Given the description of an element on the screen output the (x, y) to click on. 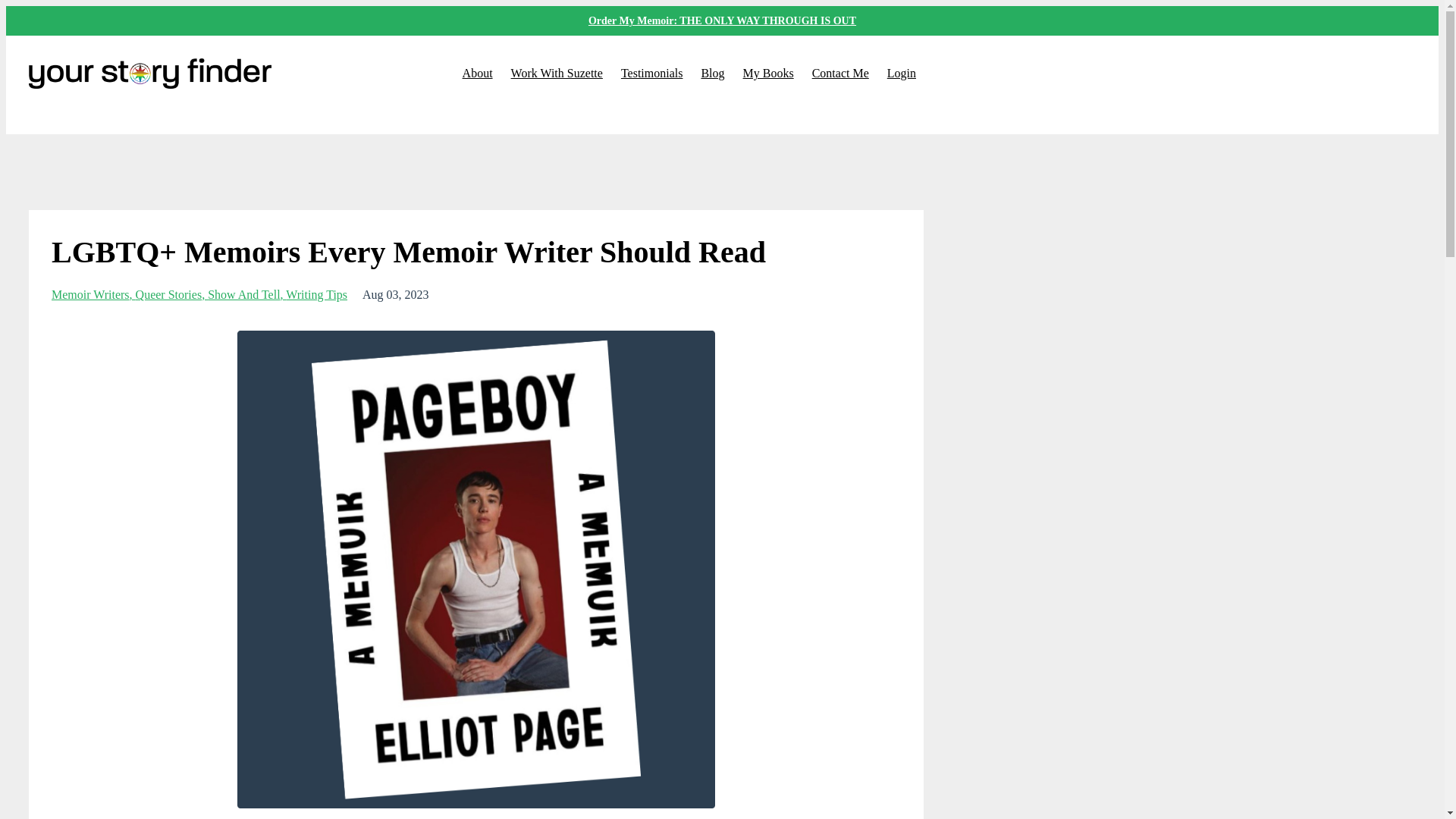
Memoir Writers (92, 294)
Contact Me (840, 73)
Queer Stories (171, 294)
Testimonials (651, 73)
Work With Suzette (556, 73)
About (478, 73)
Login (900, 73)
Writing Tips (316, 294)
My Books (767, 73)
Blog (711, 73)
Show And Tell (246, 294)
